Given the description of an element on the screen output the (x, y) to click on. 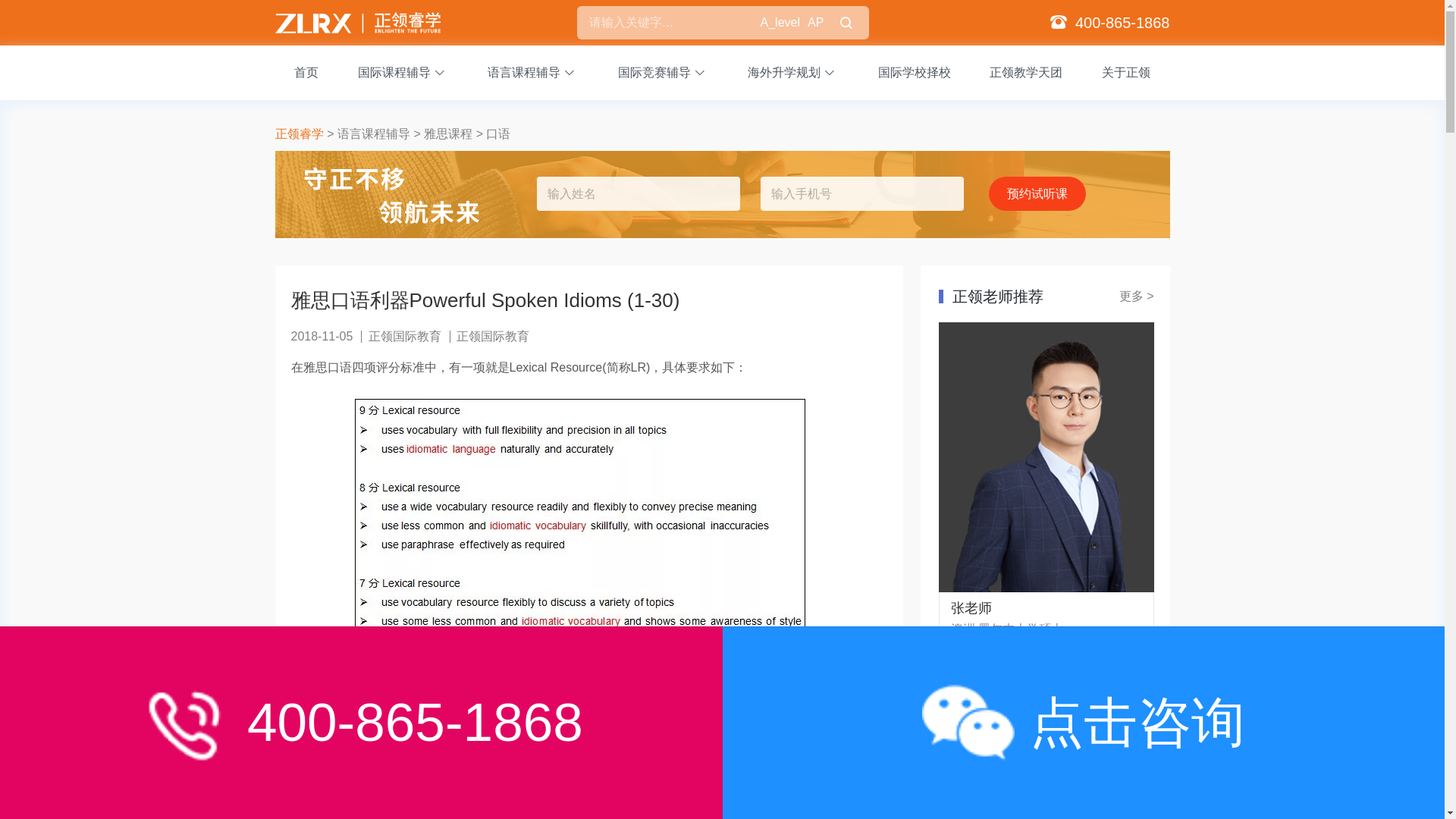
AP (816, 22)
400-865-1868 (1122, 23)
